Given the description of an element on the screen output the (x, y) to click on. 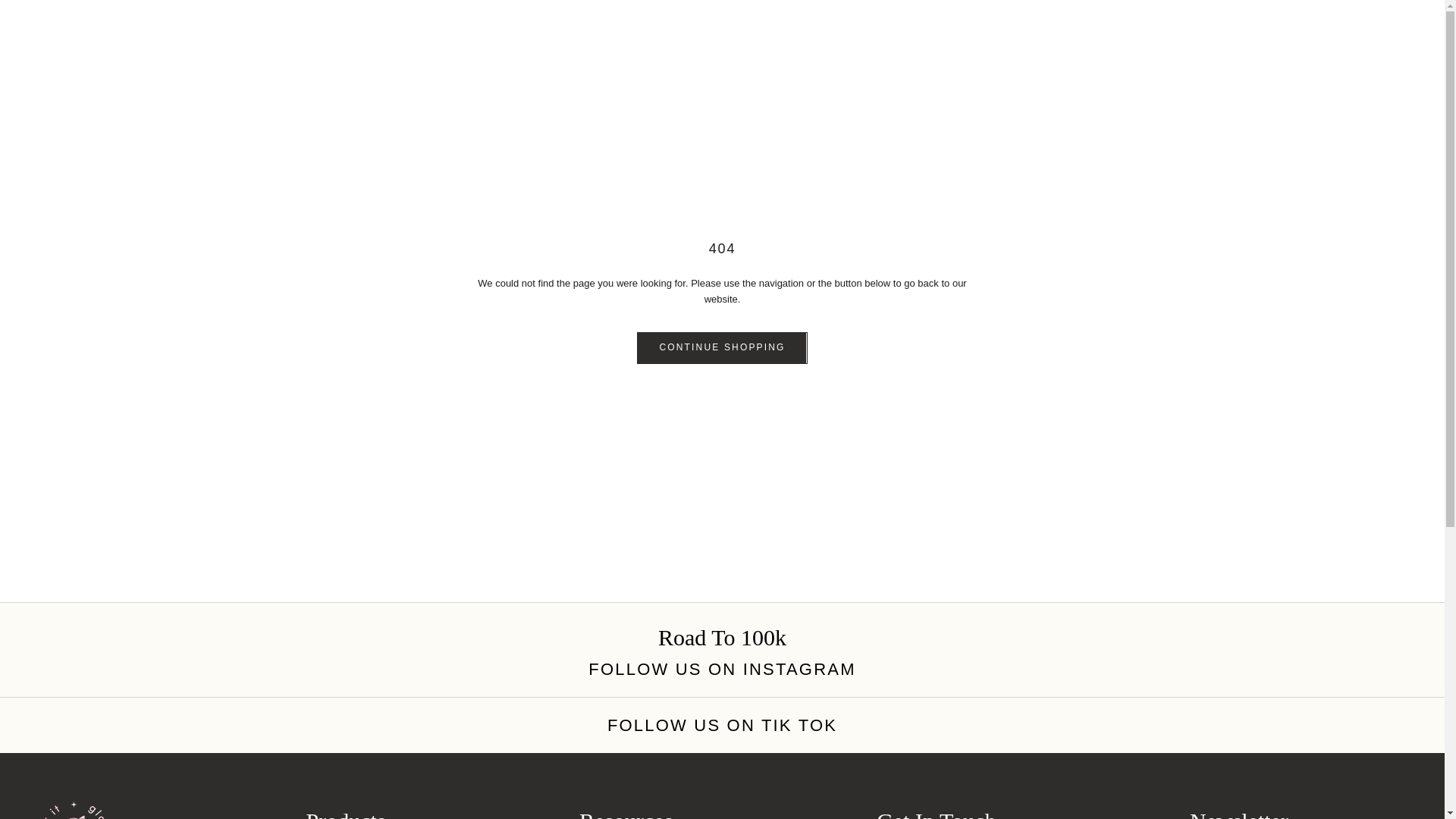
CONTINUE SHOPPING (721, 348)
